Given the description of an element on the screen output the (x, y) to click on. 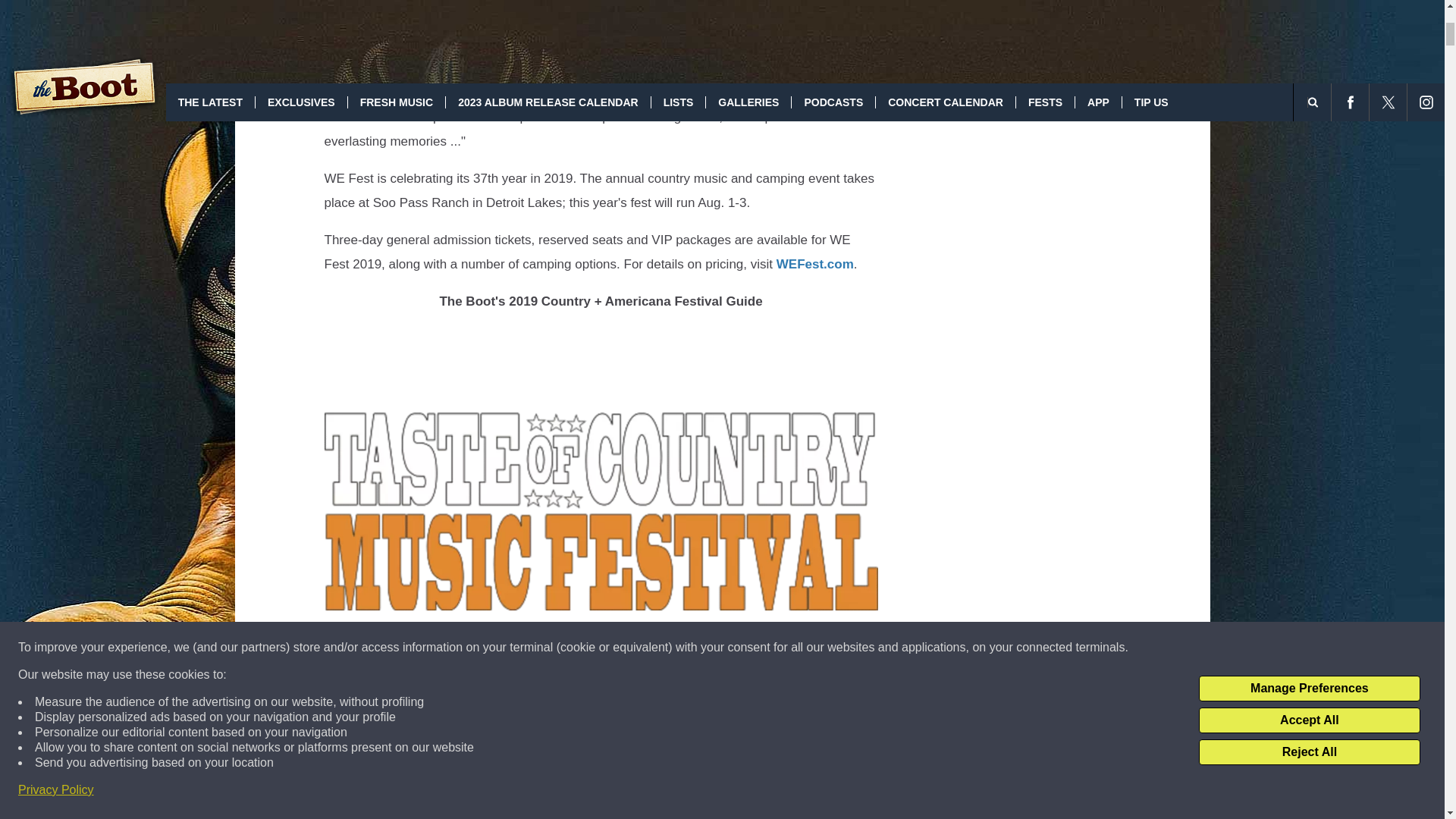
Chris Stapleton (435, 7)
